Given the description of an element on the screen output the (x, y) to click on. 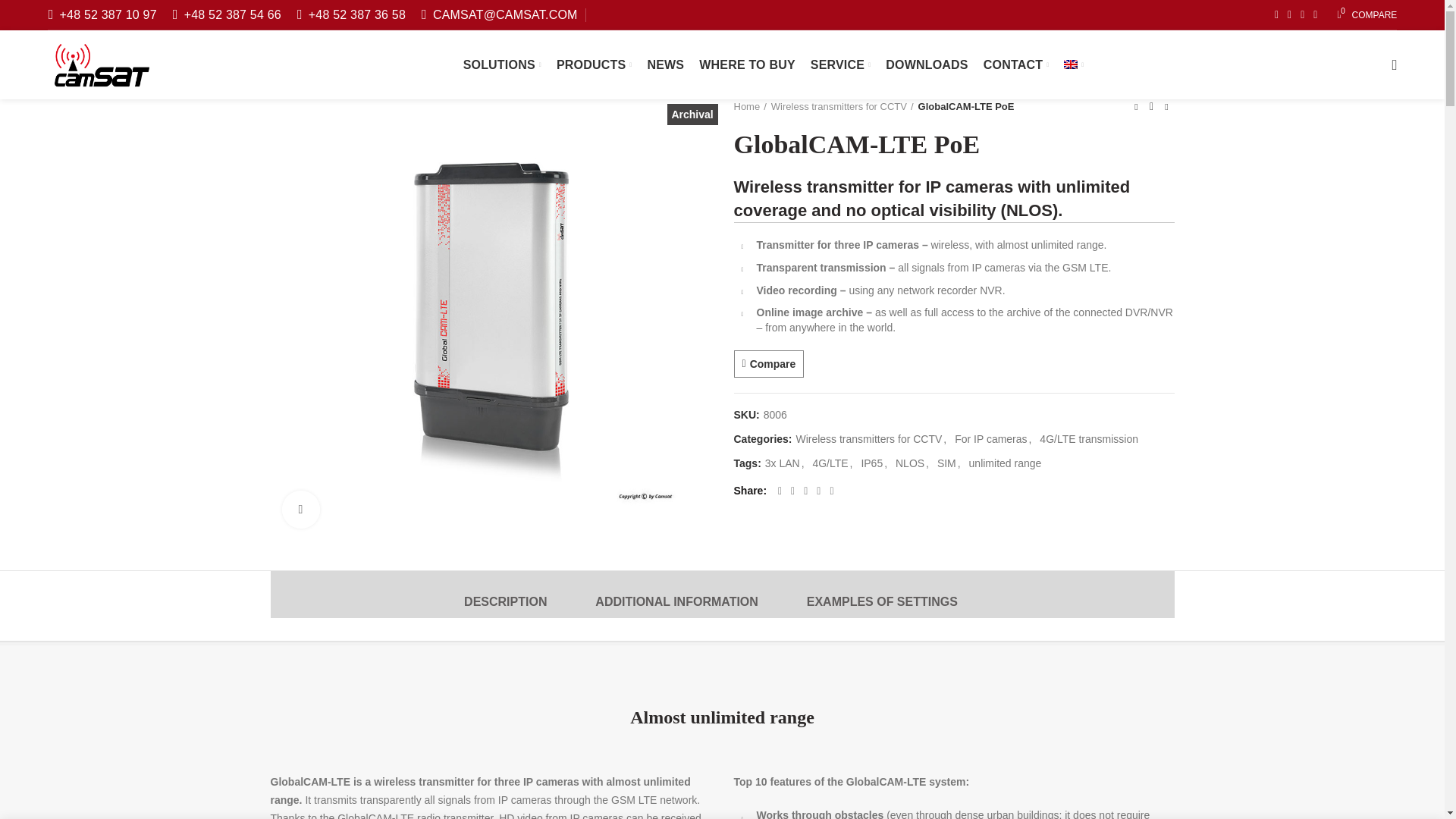
SOLUTIONS (501, 64)
Compare products (1367, 15)
PRODUCTS (1367, 15)
